Given the description of an element on the screen output the (x, y) to click on. 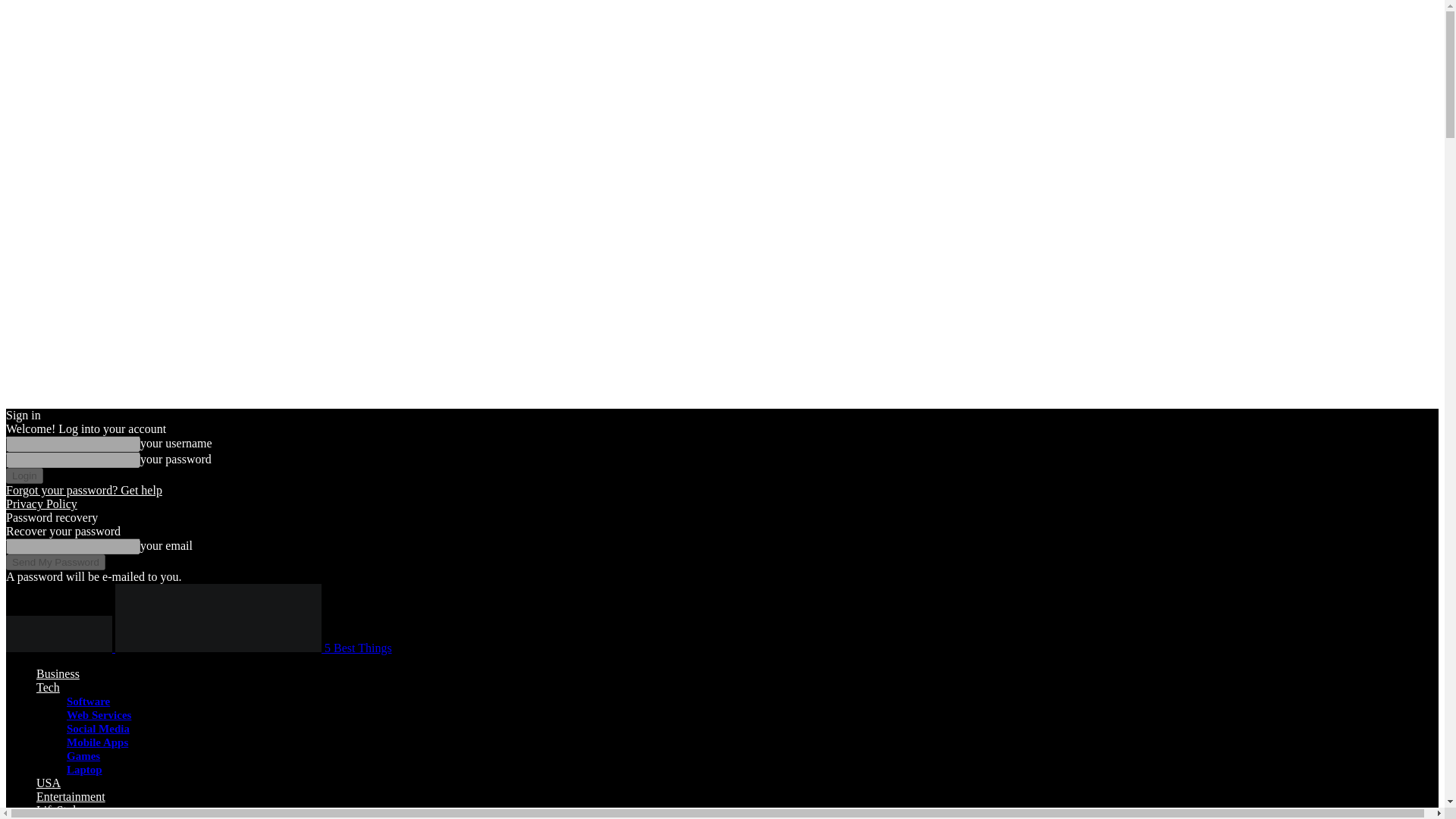
Tech (47, 686)
5bestThings: Best Tips, Best Advise  (58, 633)
5bestThings: Best Tips, Best Advise  (218, 617)
5 Best Things (253, 647)
Forgot your password? Get help (83, 490)
Send My Password (54, 562)
Login (24, 475)
Software (88, 701)
Privacy Policy (41, 503)
Business (58, 673)
